Given the description of an element on the screen output the (x, y) to click on. 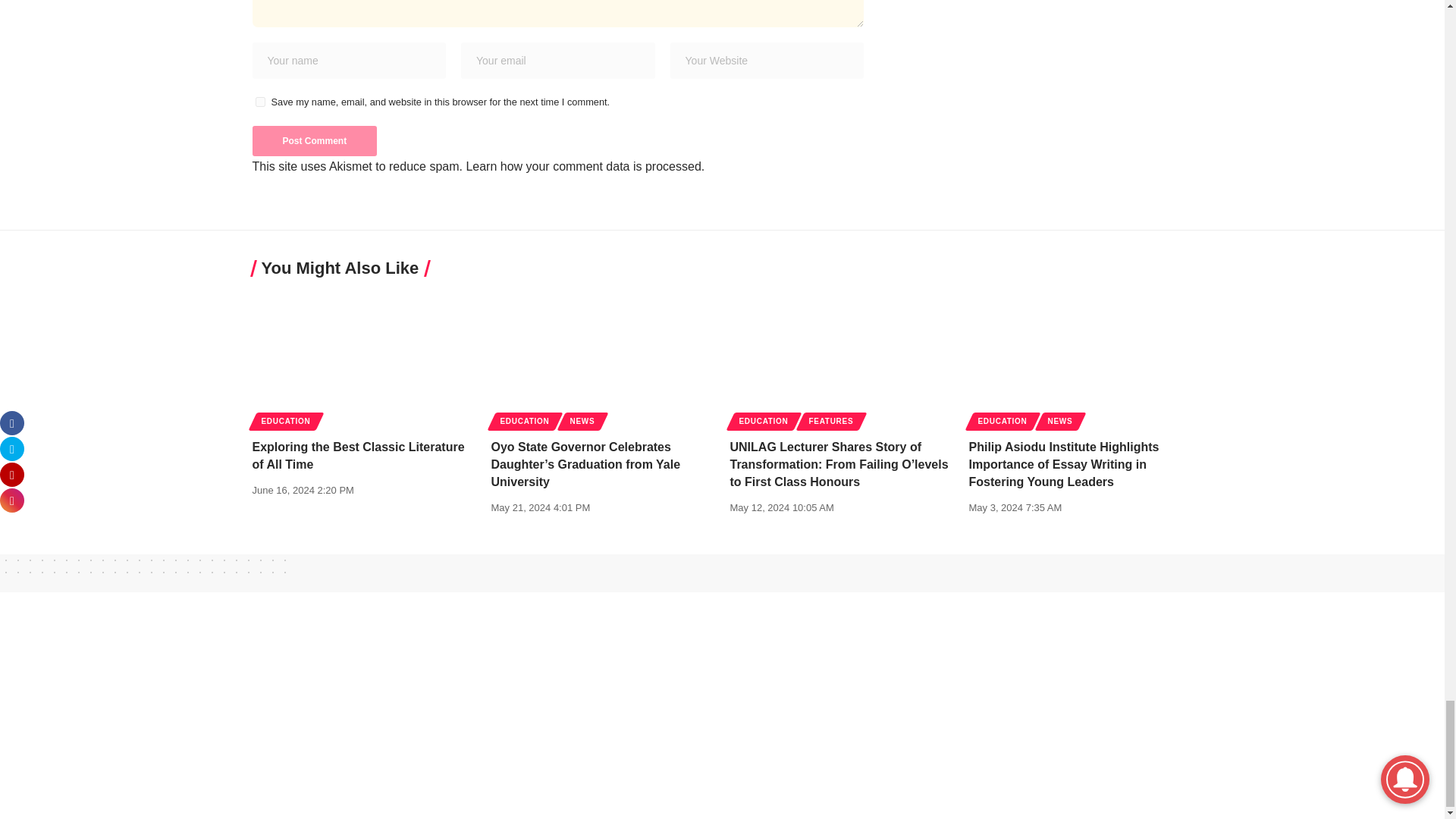
Exploring the Best Classic Literature of All Time (363, 358)
yes (259, 102)
Post Comment (314, 141)
